Given the description of an element on the screen output the (x, y) to click on. 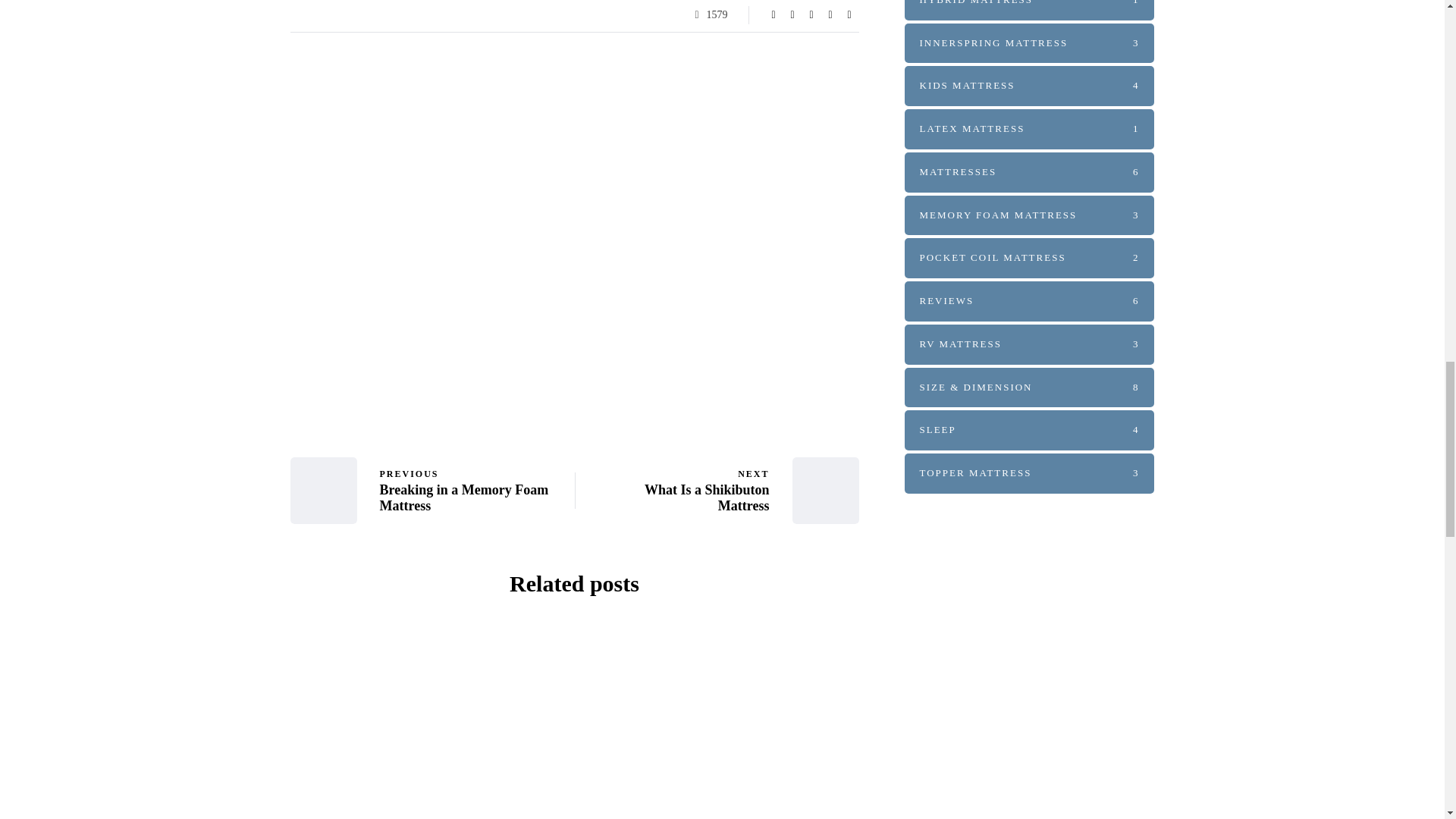
Share with LinkedIn (811, 14)
Share with Facebook (773, 14)
Tweet this (792, 14)
